Given the description of an element on the screen output the (x, y) to click on. 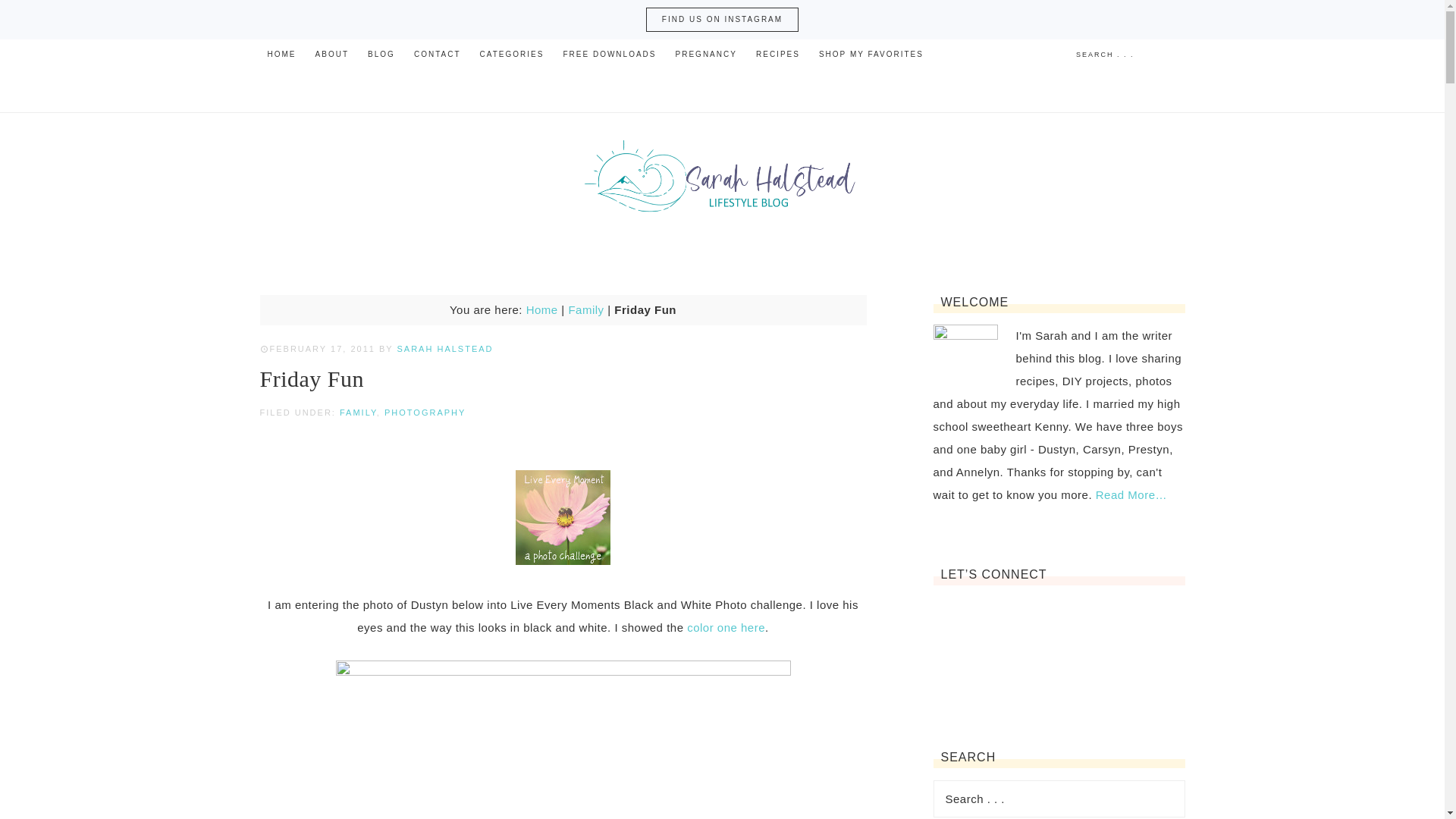
CATEGORIES (511, 54)
RECIPES (778, 54)
Live Every Moment (562, 560)
ABOUT (331, 54)
PREGNANCY (706, 54)
HOME (280, 54)
FREE DOWNLOADS (608, 54)
